Given the description of an element on the screen output the (x, y) to click on. 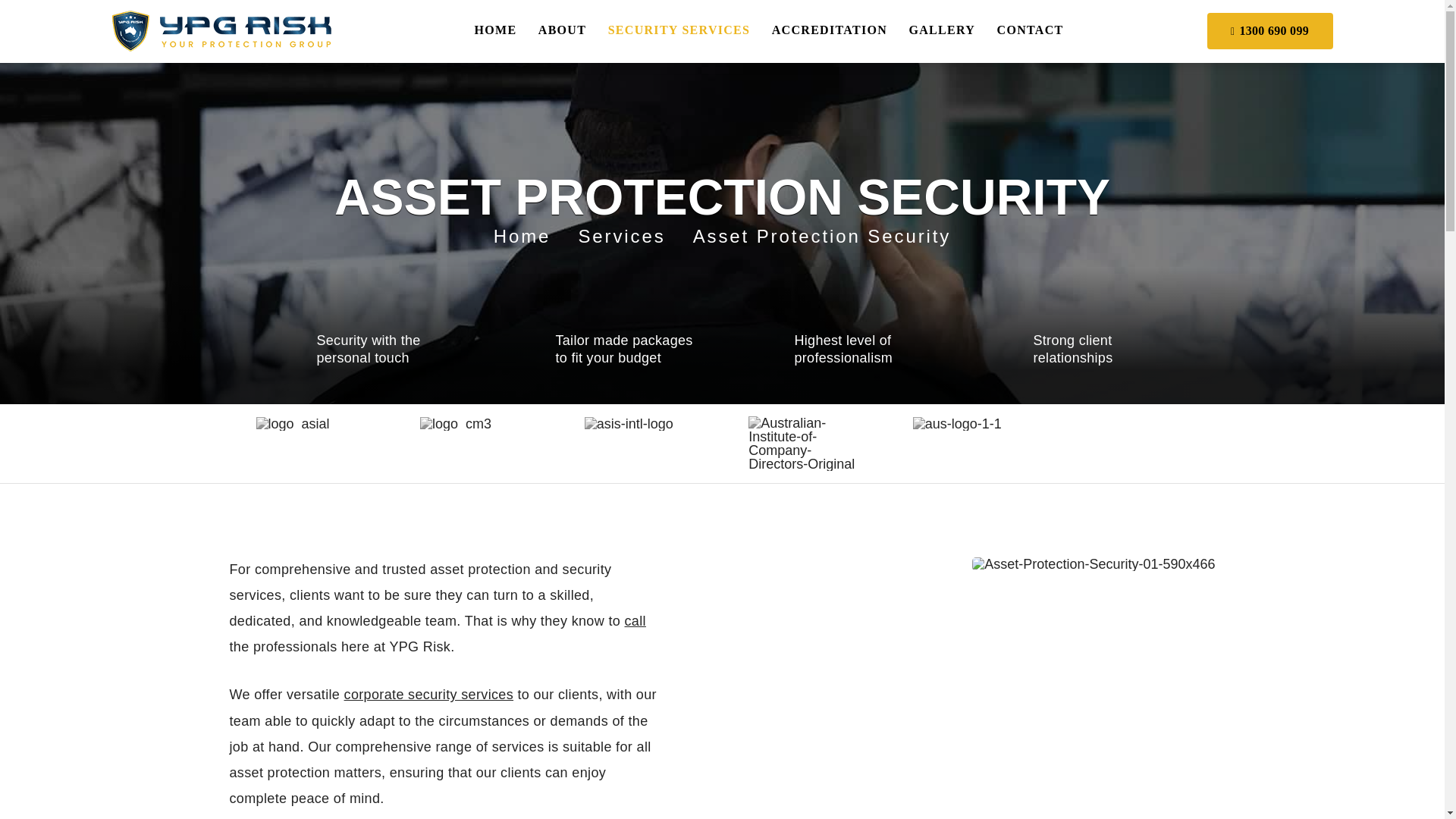
Services (633, 236)
ACCREDITATION (828, 31)
GALLERY (941, 31)
CONTACT (1030, 31)
SECURITY SERVICES (679, 31)
corporate security services (428, 694)
1300 690 099 (1270, 31)
Home (534, 236)
